Given the description of an element on the screen output the (x, y) to click on. 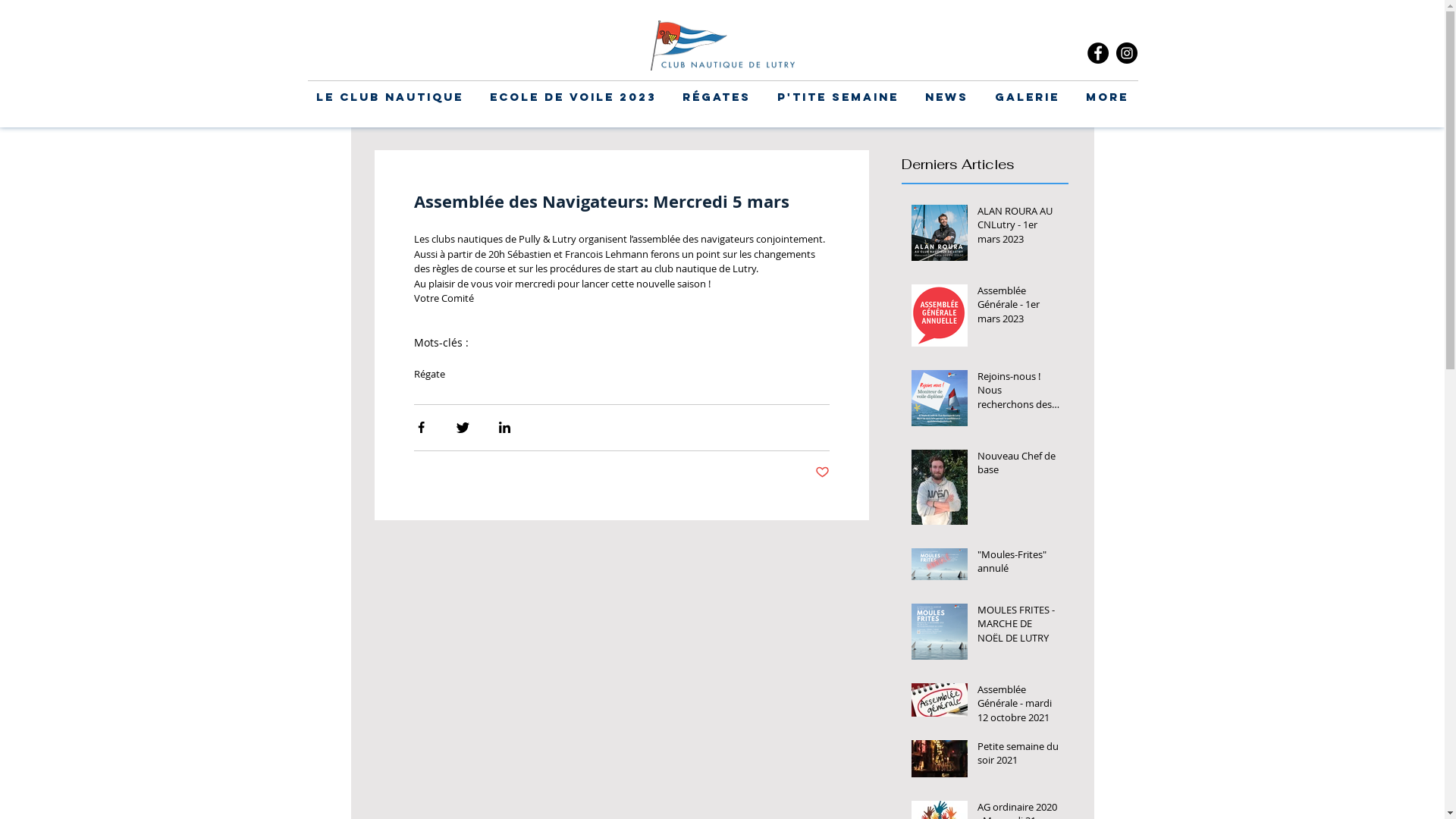
Nouveau pavillon.png Element type: hover (722, 45)
Le Club Nautique Element type: text (389, 96)
ALAN ROURA AU CNLutry - 1er mars 2023 Element type: text (1017, 227)
Vous n'aimez plus ce post Element type: text (821, 472)
P'tite Semaine Element type: text (838, 96)
Galerie Element type: text (1026, 96)
Nouveau Chef de base Element type: text (1017, 465)
Petite semaine du soir 2021 Element type: text (1017, 755)
Ecole de voile 2023 Element type: text (572, 96)
News Element type: text (946, 96)
